Given the description of an element on the screen output the (x, y) to click on. 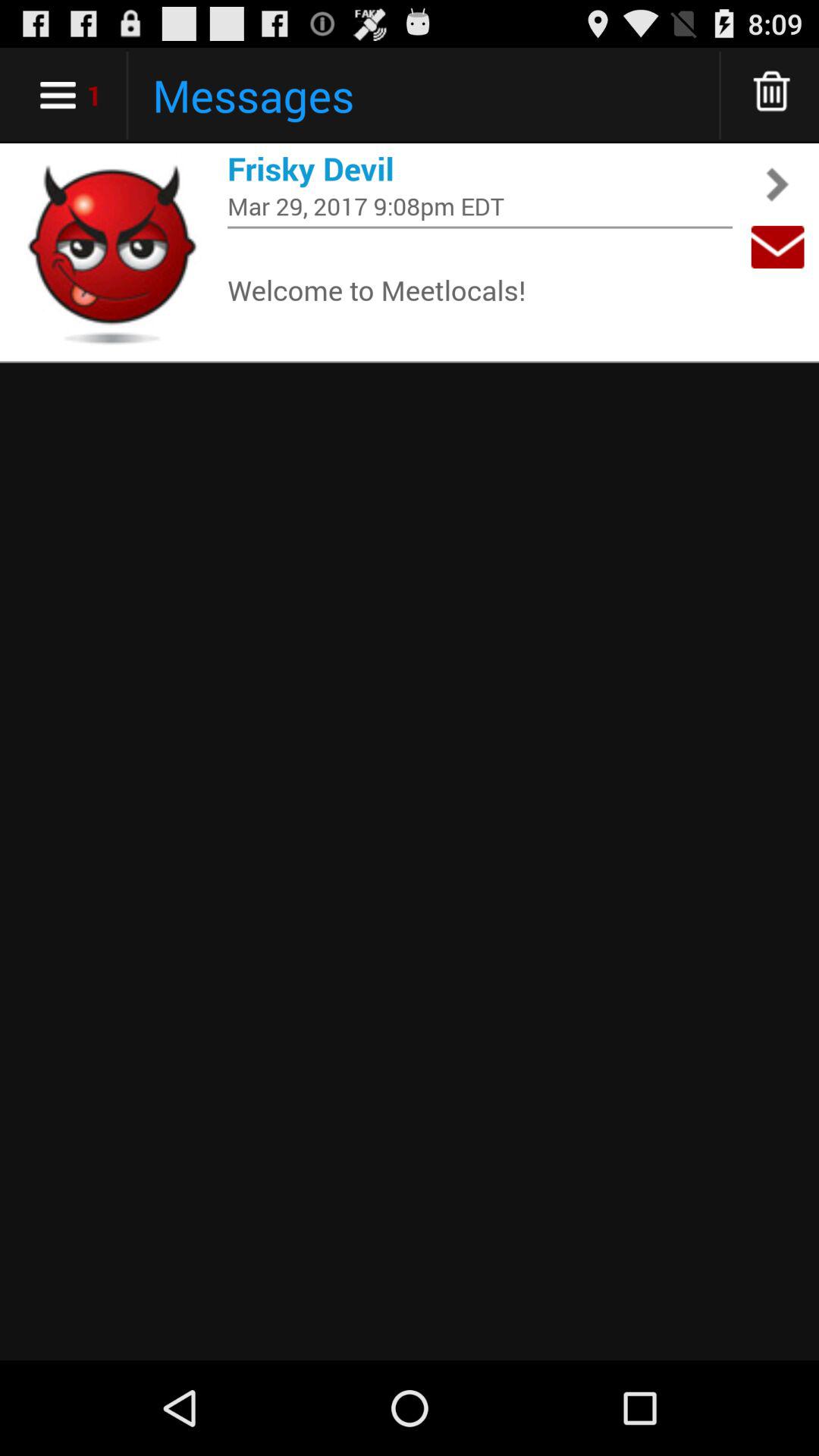
swipe to welcome to meetlocals (479, 289)
